Given the description of an element on the screen output the (x, y) to click on. 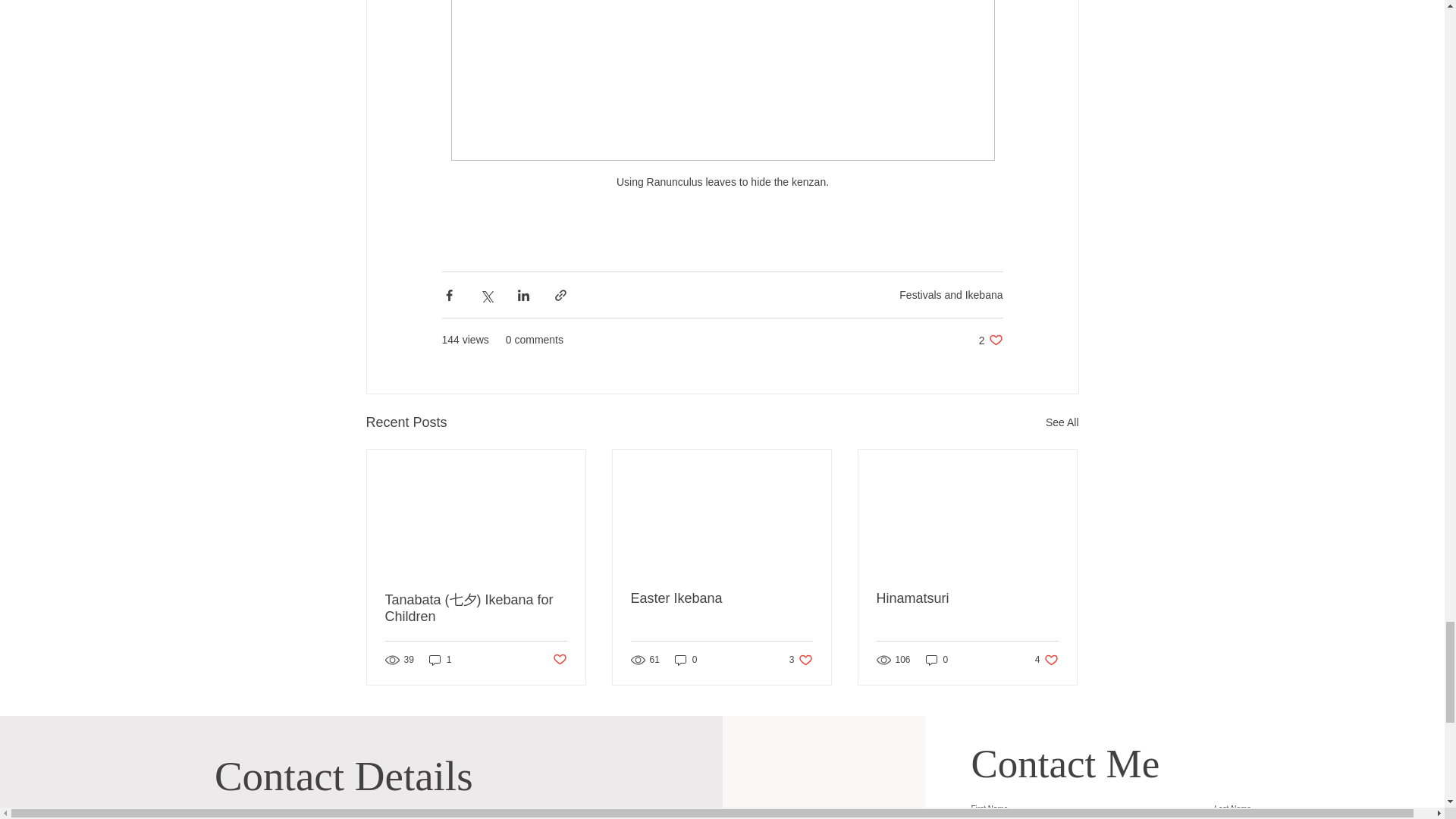
0 (937, 659)
Festivals and Ikebana (951, 295)
1 (440, 659)
0 (685, 659)
See All (1061, 422)
Post not marked as liked (1046, 659)
Hinamatsuri (558, 659)
